Given the description of an element on the screen output the (x, y) to click on. 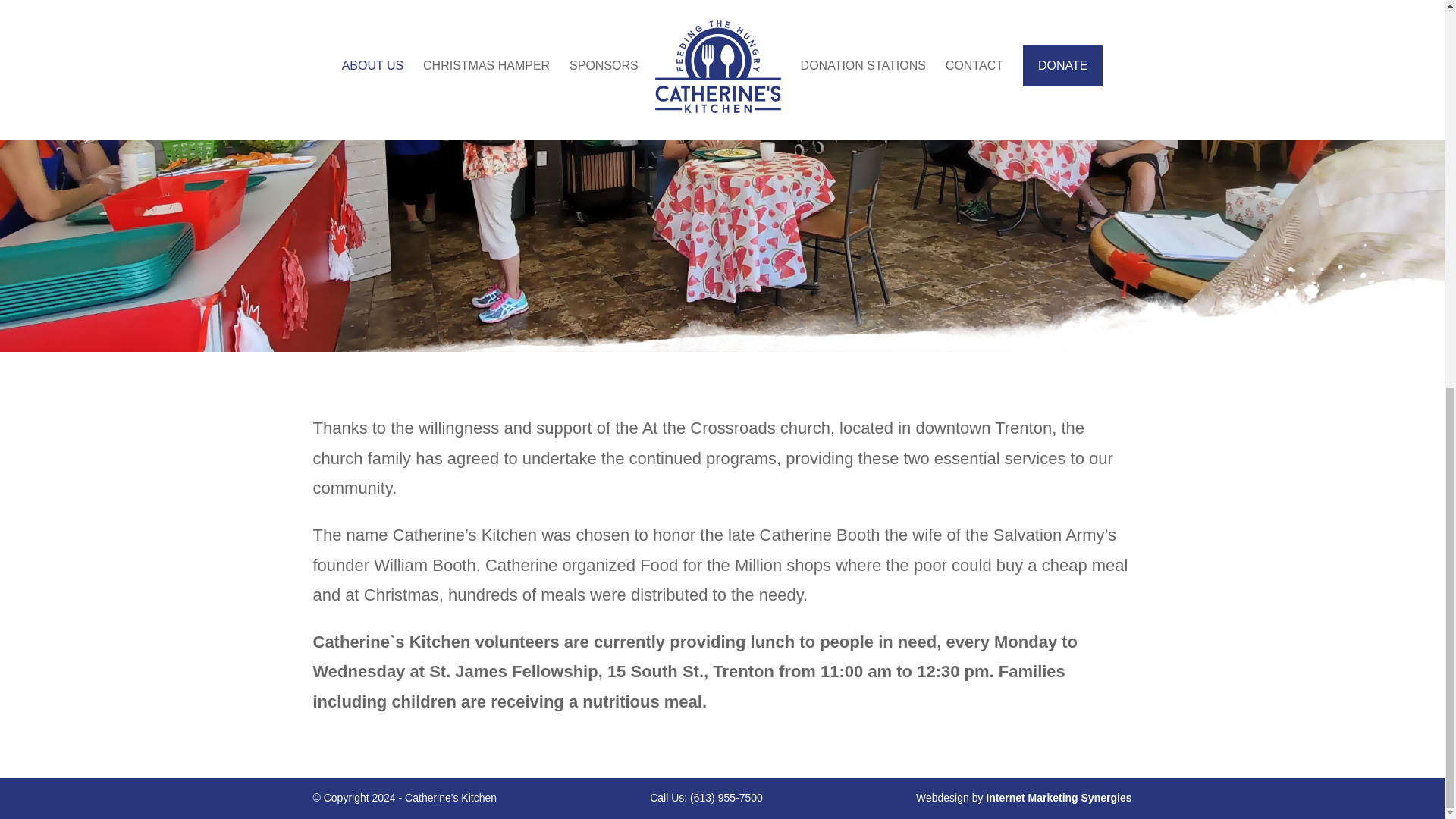
Internet Marketing Synergies (1058, 797)
